Given the description of an element on the screen output the (x, y) to click on. 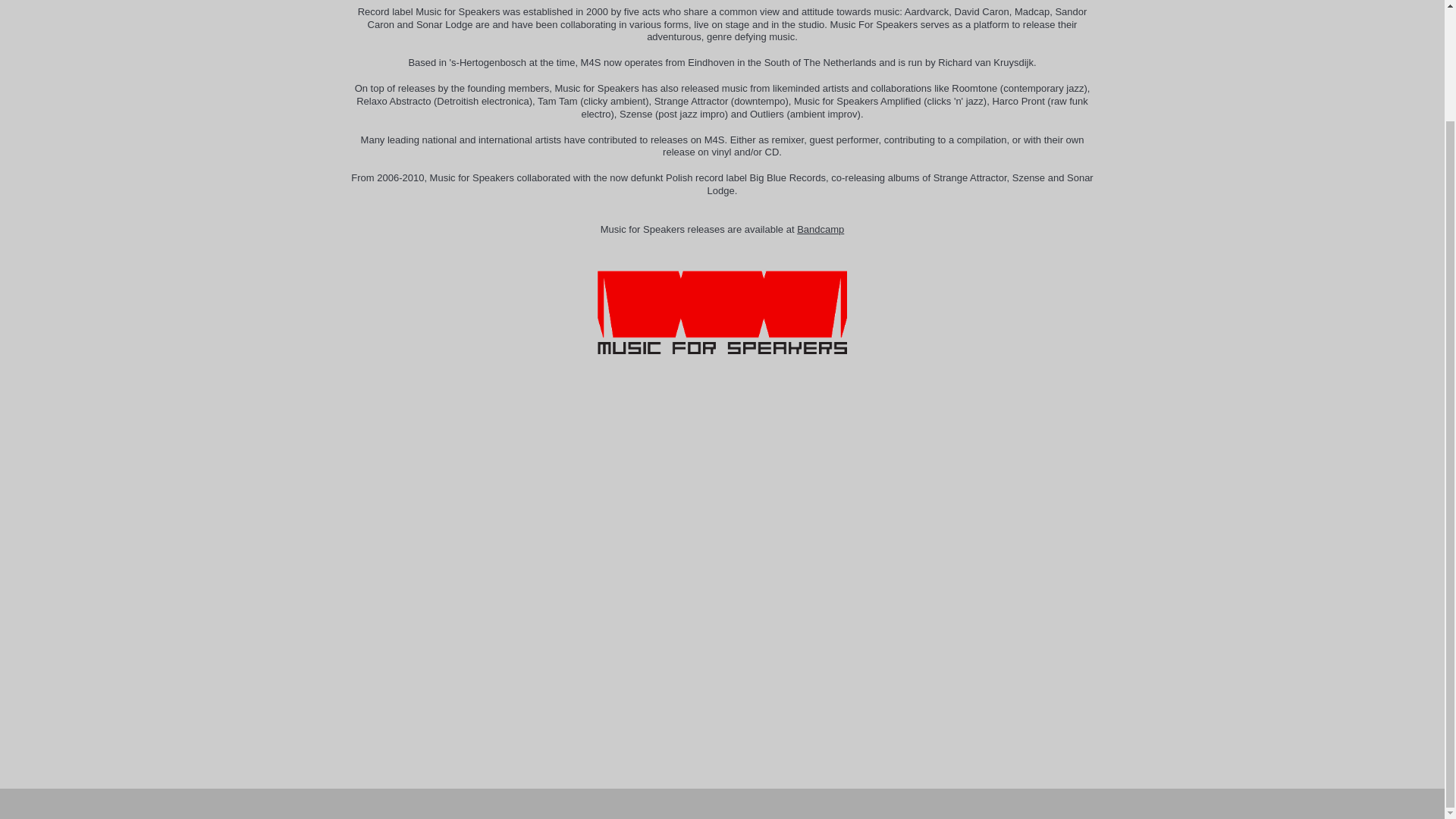
Bandcamp (820, 229)
